Given the description of an element on the screen output the (x, y) to click on. 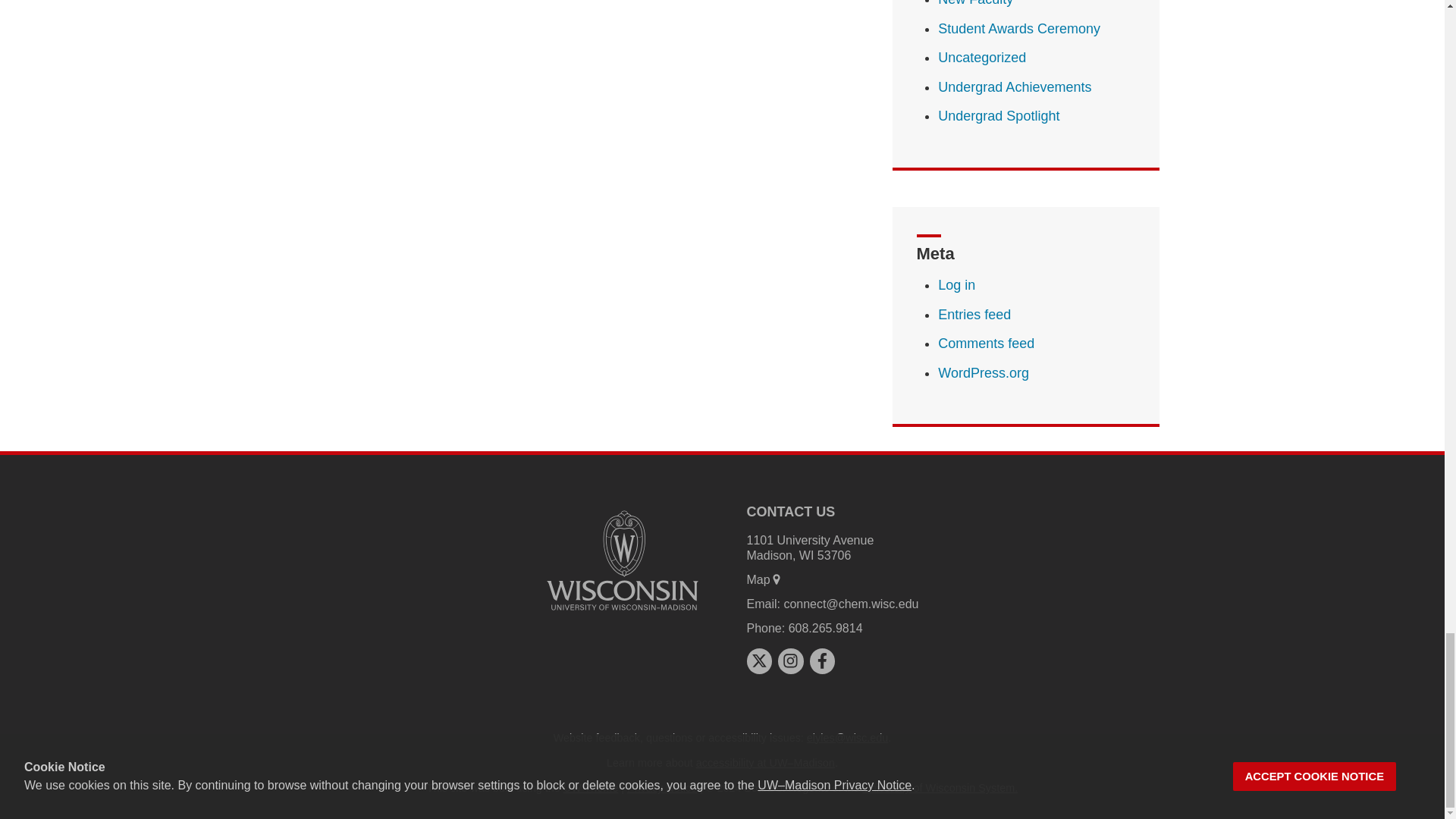
instagram (790, 660)
x twitter (759, 660)
University logo that links to main university website (621, 560)
map marker (776, 579)
facebook (821, 660)
